Given the description of an element on the screen output the (x, y) to click on. 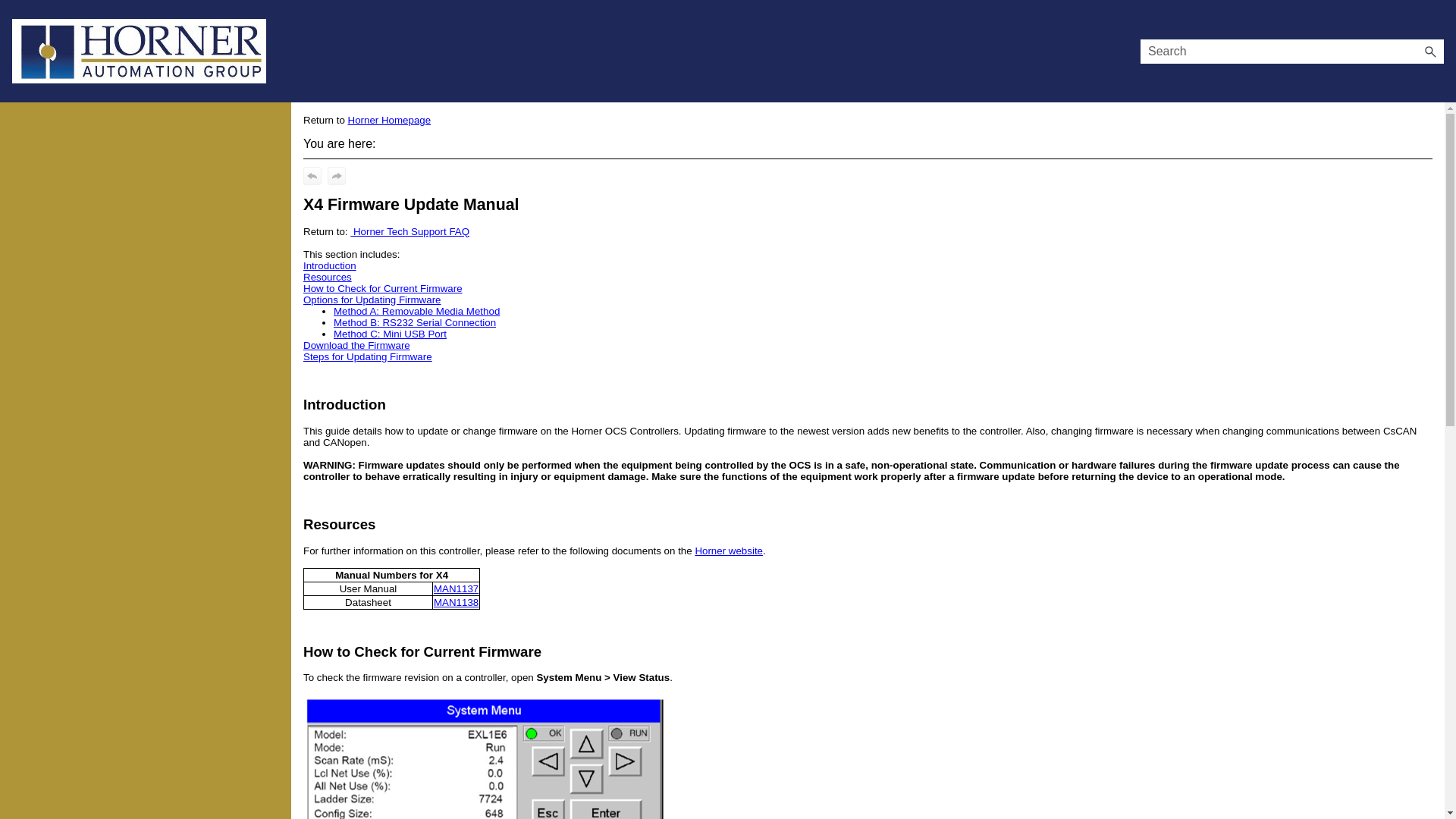
Horner Tech Support FAQ (409, 231)
Navigate previous (311, 176)
Method A: Removable Media Method (416, 310)
Download the Firmware (356, 345)
Introduction (329, 265)
Navigate next (336, 176)
MAN1138 (456, 601)
Resources (327, 276)
Search (1430, 51)
Horner Homepage (388, 120)
